Given the description of an element on the screen output the (x, y) to click on. 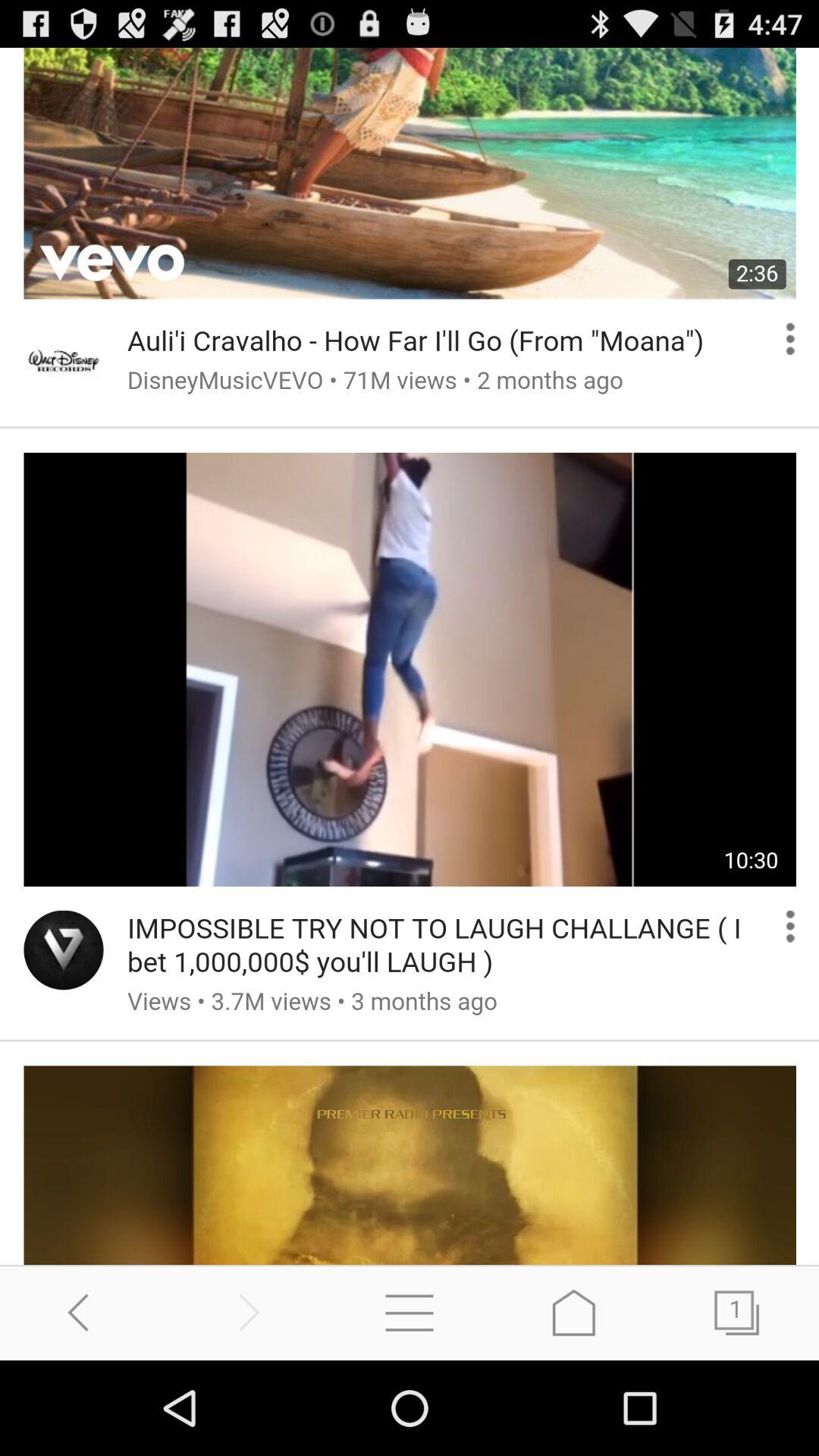
opens video (409, 655)
